Given the description of an element on the screen output the (x, y) to click on. 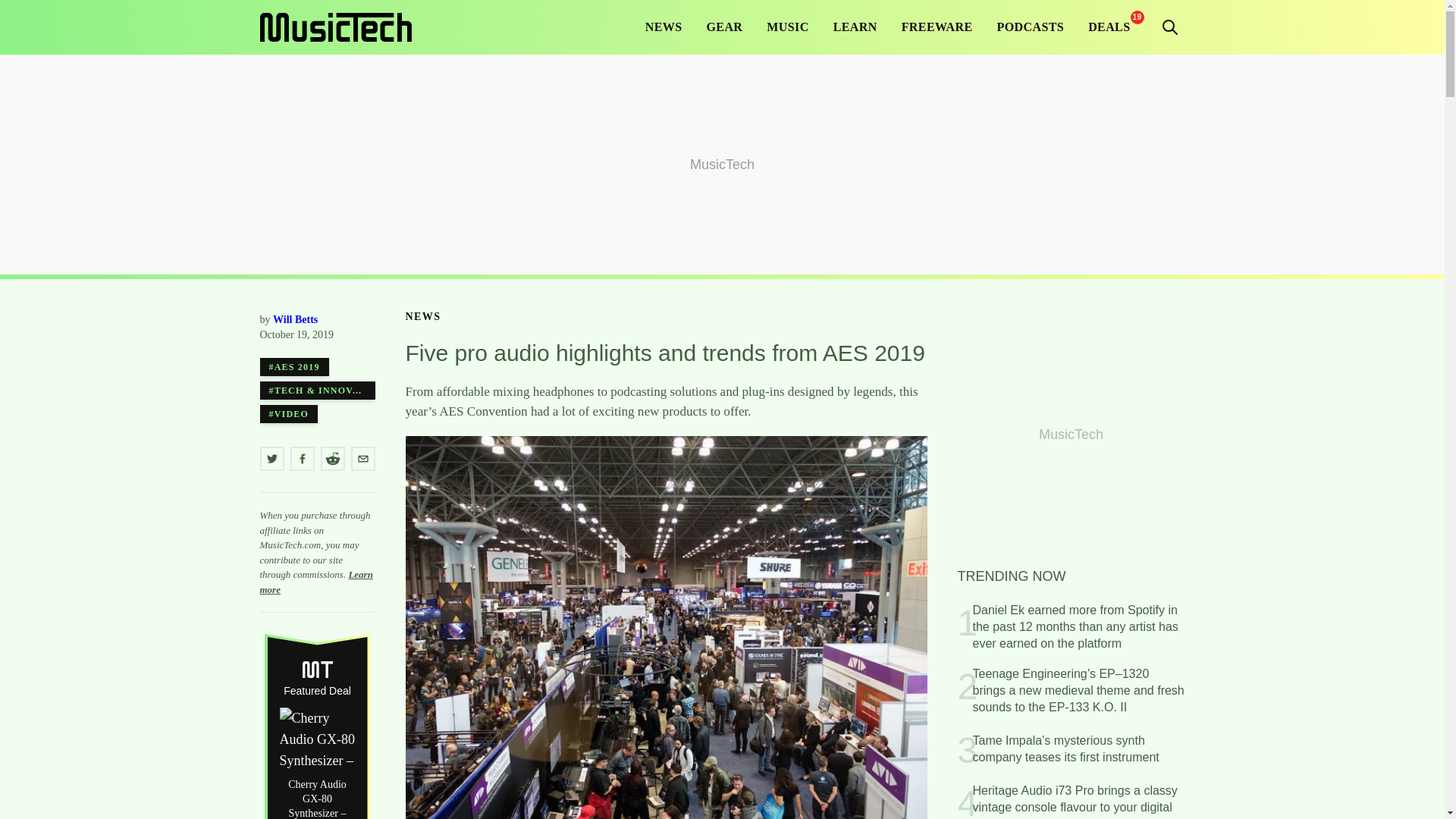
MusicTech (334, 27)
AES 2019 (294, 366)
DEALS (1108, 27)
NEWS (663, 27)
Video (288, 413)
MUSIC (786, 27)
Will Betts (295, 319)
PODCASTS (1030, 27)
NEWS (422, 316)
Published October 19, 2019 9:00AM (316, 335)
